Given the description of an element on the screen output the (x, y) to click on. 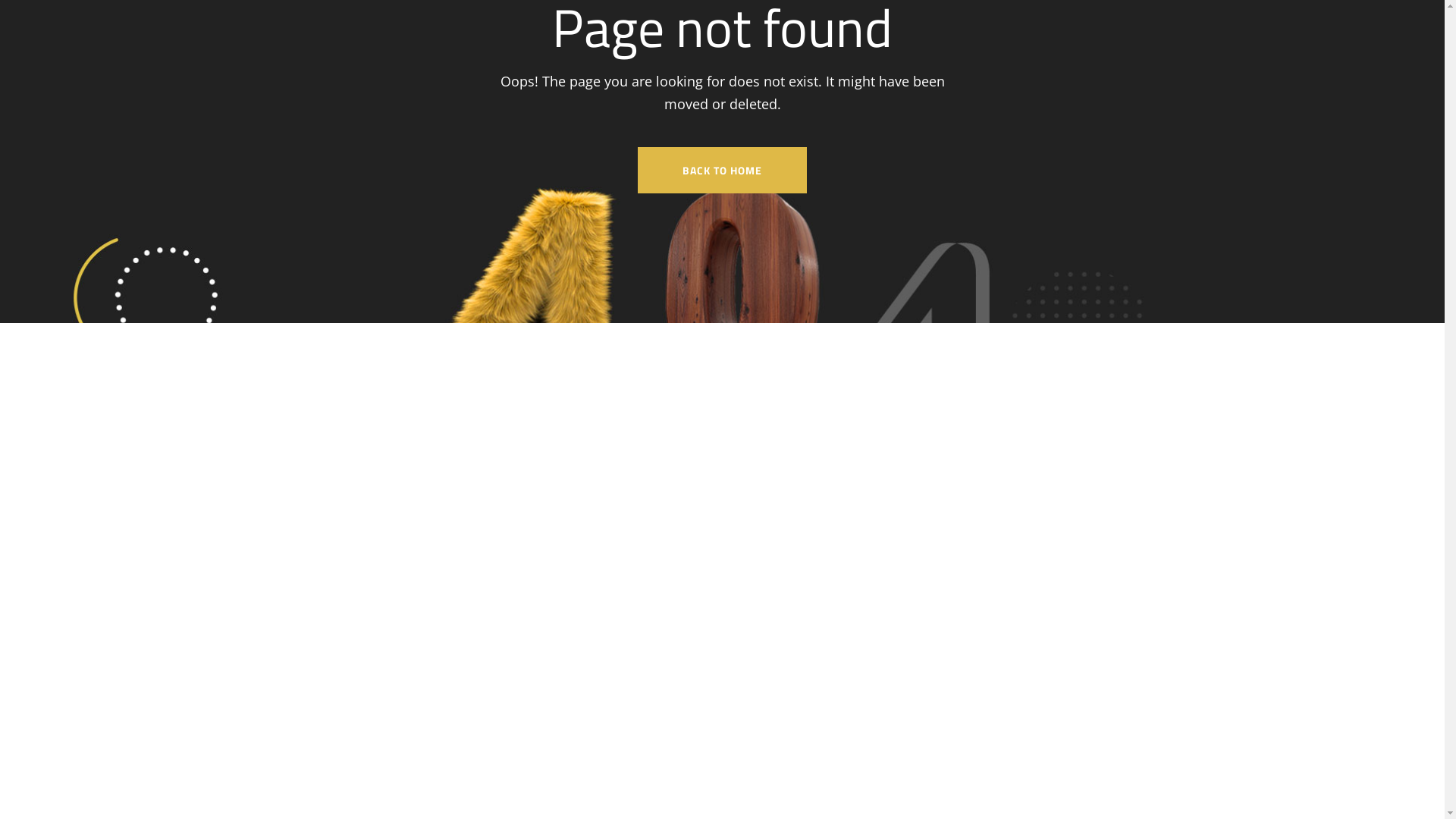
BACK TO HOME Element type: text (721, 170)
